Given the description of an element on the screen output the (x, y) to click on. 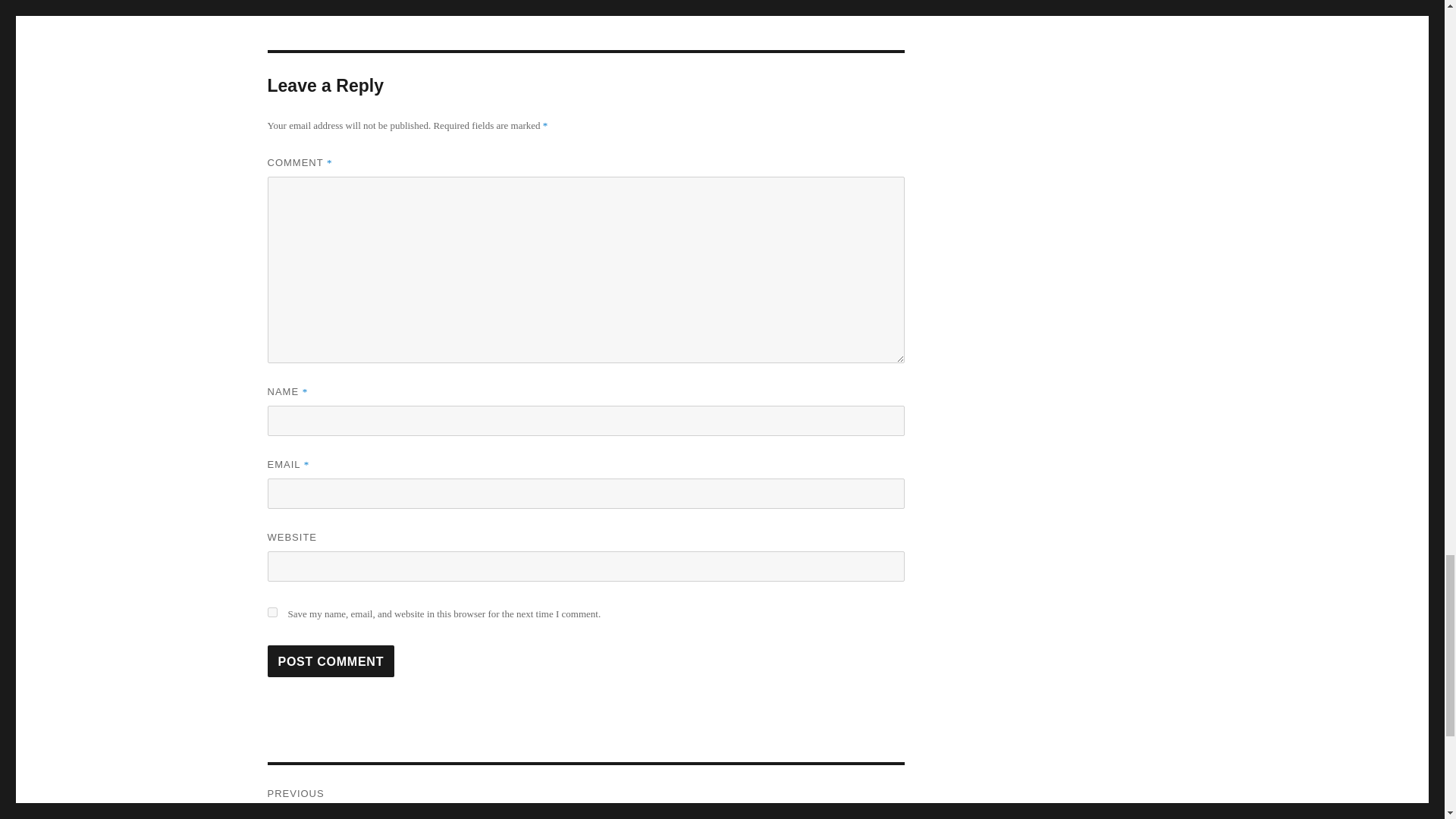
Post Comment (330, 661)
yes (271, 612)
Post Comment (330, 661)
